Given the description of an element on the screen output the (x, y) to click on. 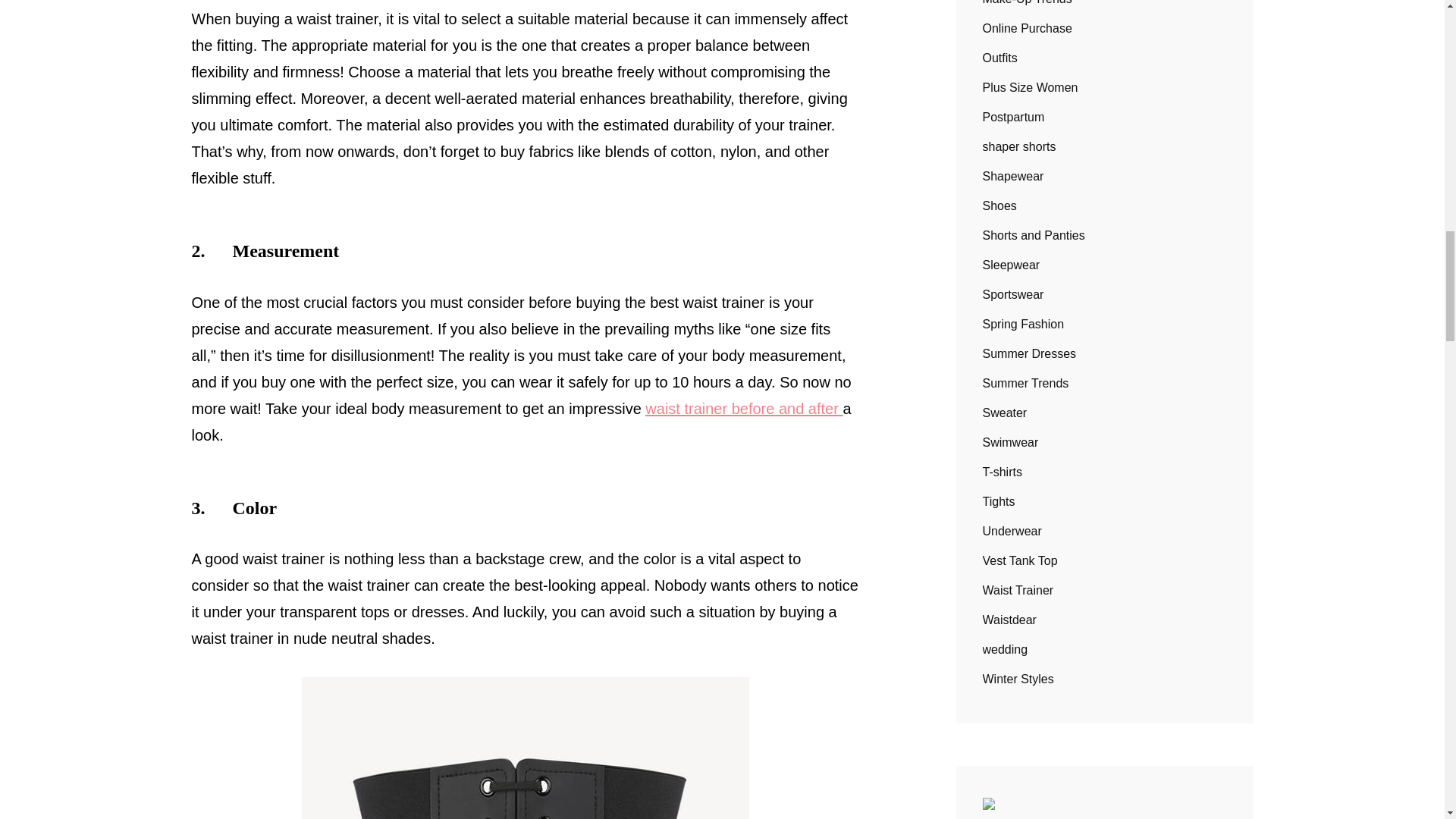
waist trainer before and after (744, 408)
